Given the description of an element on the screen output the (x, y) to click on. 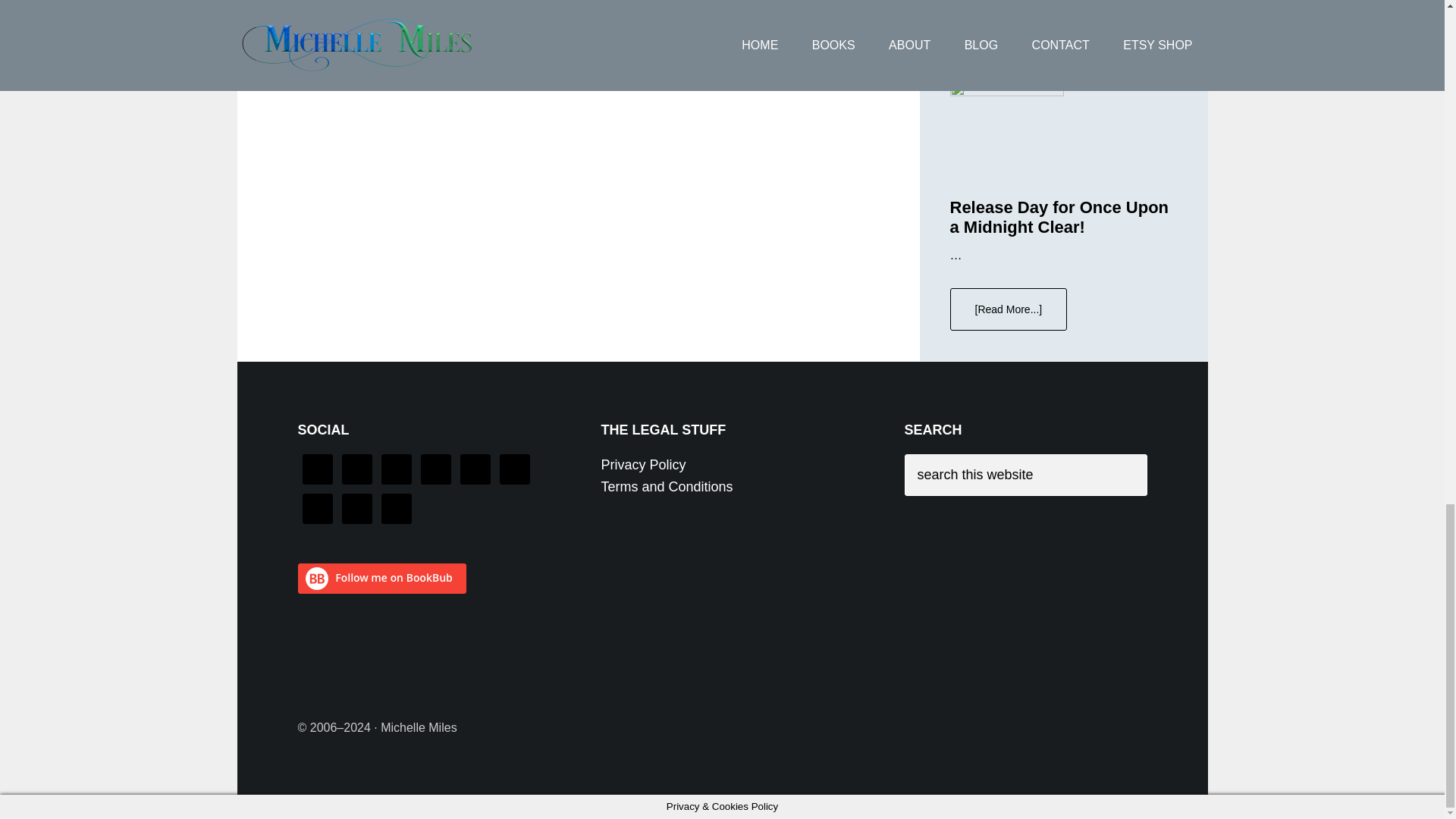
New Release (473, 2)
Dusty Tome (398, 2)
Writing (535, 2)
adventure (437, 16)
time travel (571, 16)
action (387, 16)
new release (504, 16)
